Given the description of an element on the screen output the (x, y) to click on. 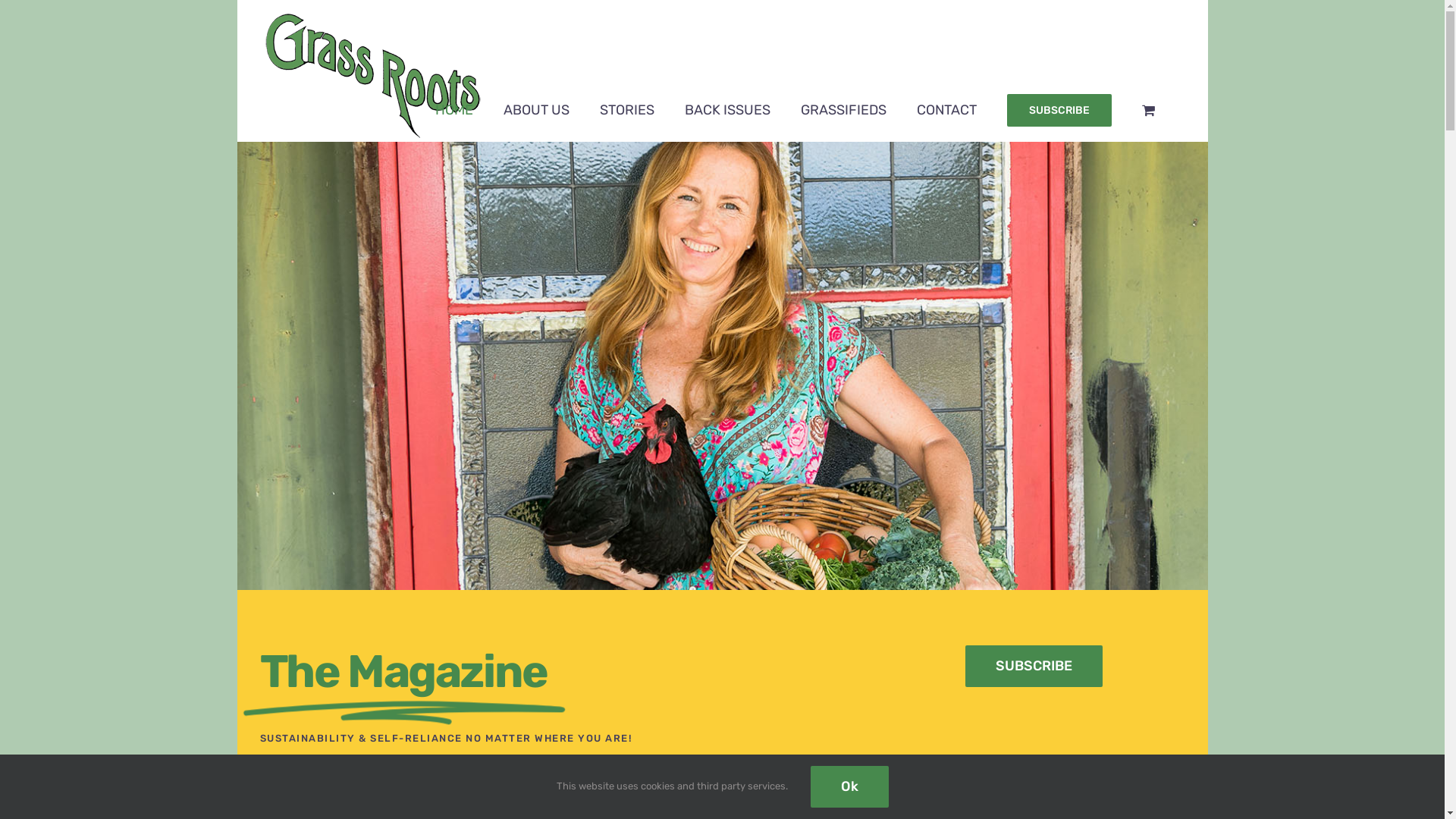
STORIES Element type: text (626, 109)
BACK ISSUES Element type: text (726, 109)
CONTACT Element type: text (945, 109)
SUBSCRIBE Element type: text (1059, 109)
GRASSIFIEDS Element type: text (843, 109)
ABOUT US Element type: text (536, 109)
SUBSCRIBE Element type: text (1033, 666)
HOME Element type: text (454, 109)
Ok Element type: text (848, 786)
